Given the description of an element on the screen output the (x, y) to click on. 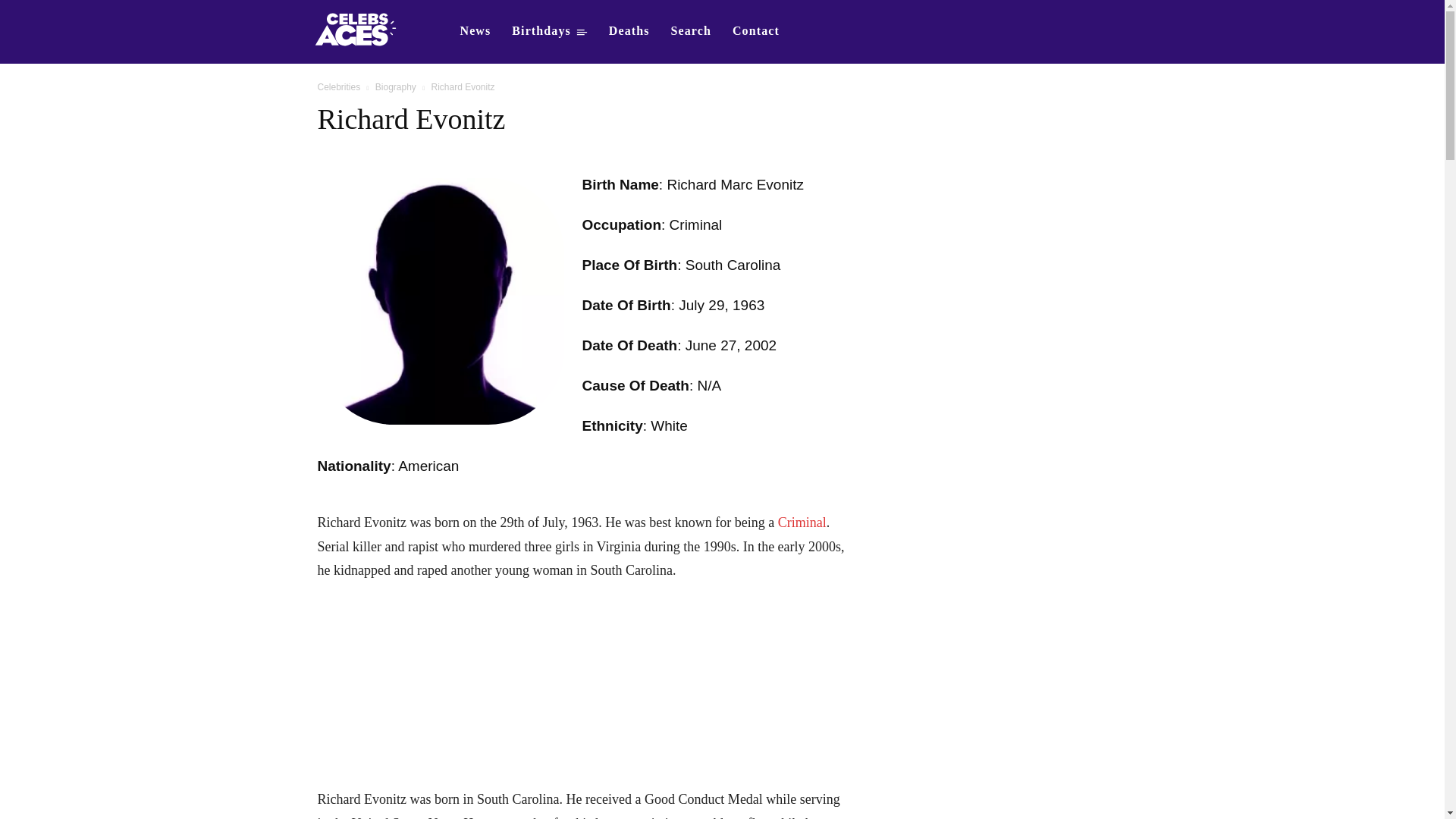
Criminal (802, 522)
Celebs News (474, 31)
1963 (748, 304)
Who is dating who (354, 31)
July (691, 304)
29 (715, 304)
Celebrity Birthdays (548, 31)
Contact (756, 31)
News (474, 31)
Celebrity Deaths 2018 (629, 31)
Birthdays (548, 31)
Celebrities (338, 86)
View all posts in Biography (395, 86)
Search (691, 31)
Deaths (629, 31)
